Given the description of an element on the screen output the (x, y) to click on. 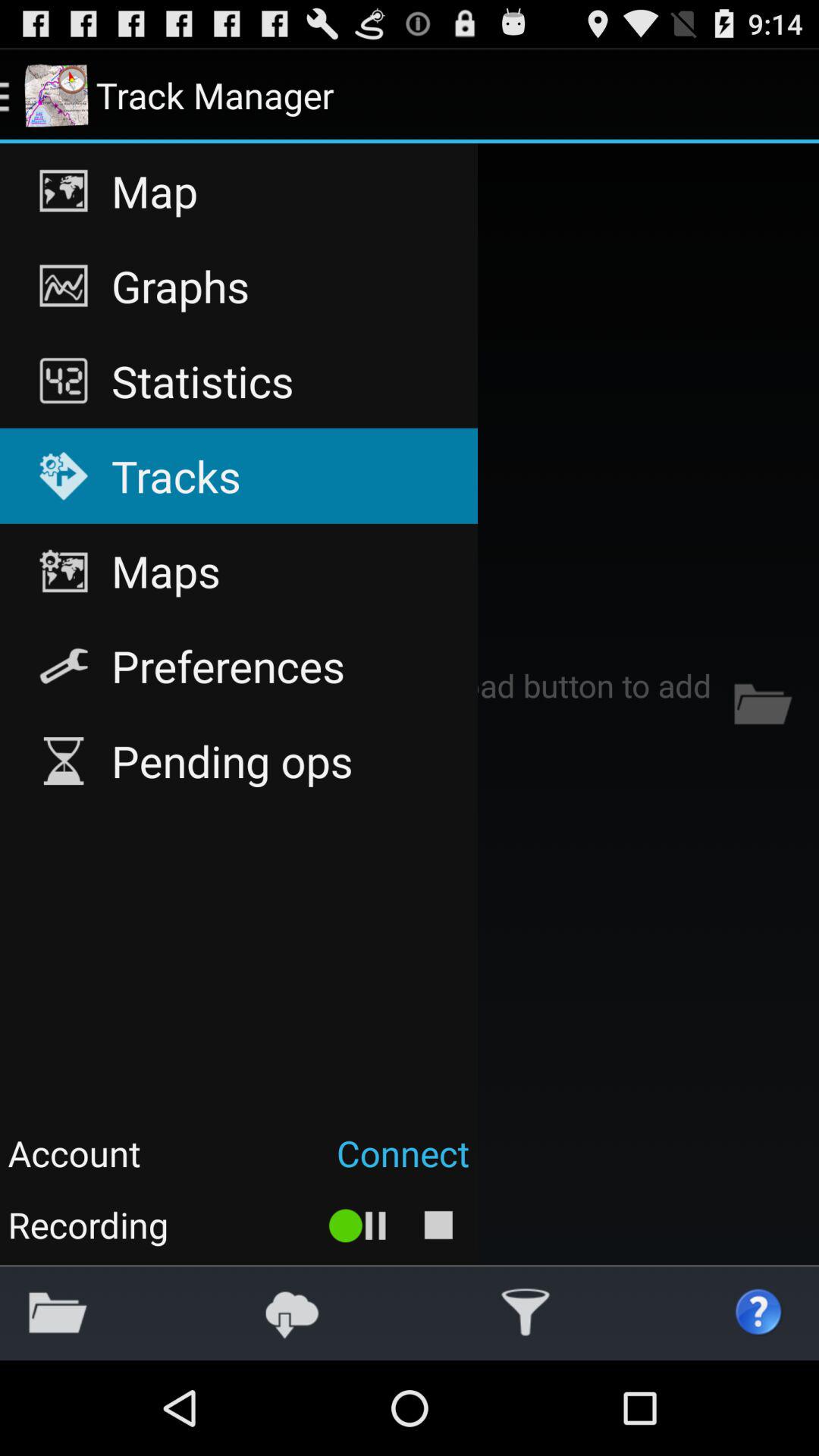
choose item above the statistics app (238, 285)
